Given the description of an element on the screen output the (x, y) to click on. 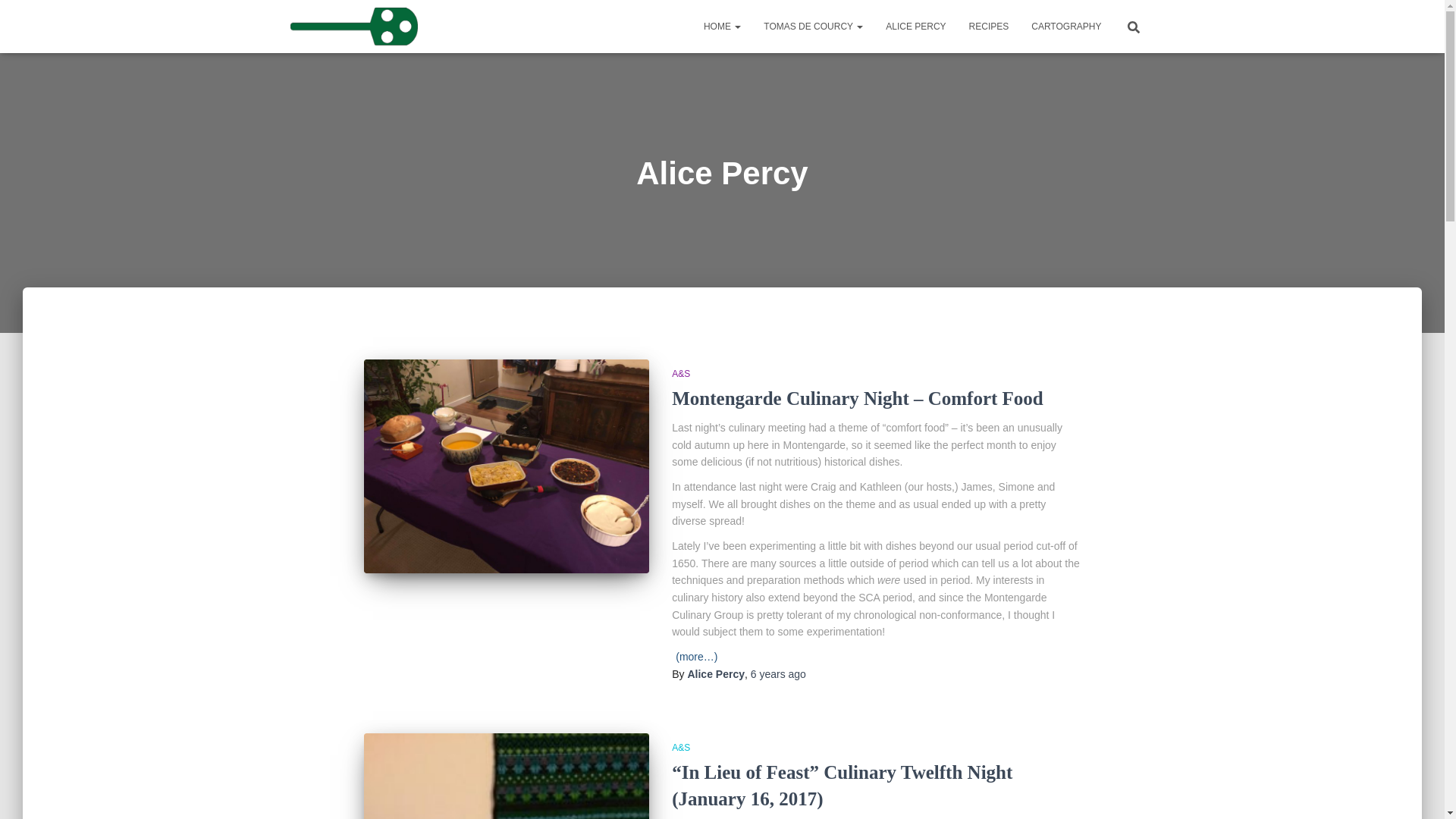
Recipes (989, 26)
6 years ago (778, 674)
Cartography (1066, 26)
Home (722, 26)
HOME (722, 26)
Tomas de Courcy (813, 26)
CARTOGRAPHY (1066, 26)
Alice Percy (715, 674)
RECIPES (989, 26)
Alice Percy (915, 26)
TOMAS DE COURCY (813, 26)
ALICE PERCY (915, 26)
A Baker's Peel Vert (354, 26)
Search (16, 16)
